Given the description of an element on the screen output the (x, y) to click on. 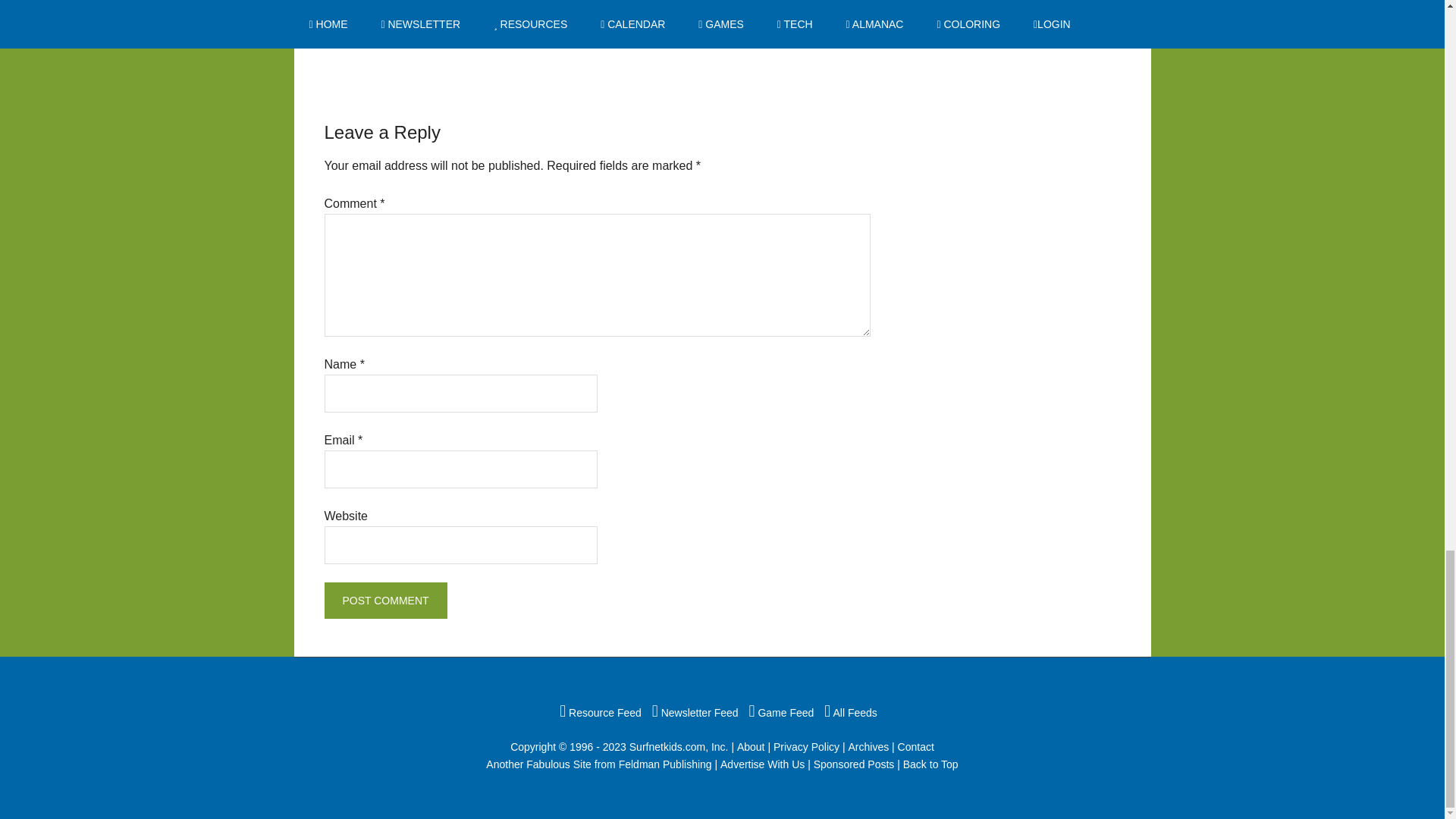
Post Comment (385, 600)
